Given the description of an element on the screen output the (x, y) to click on. 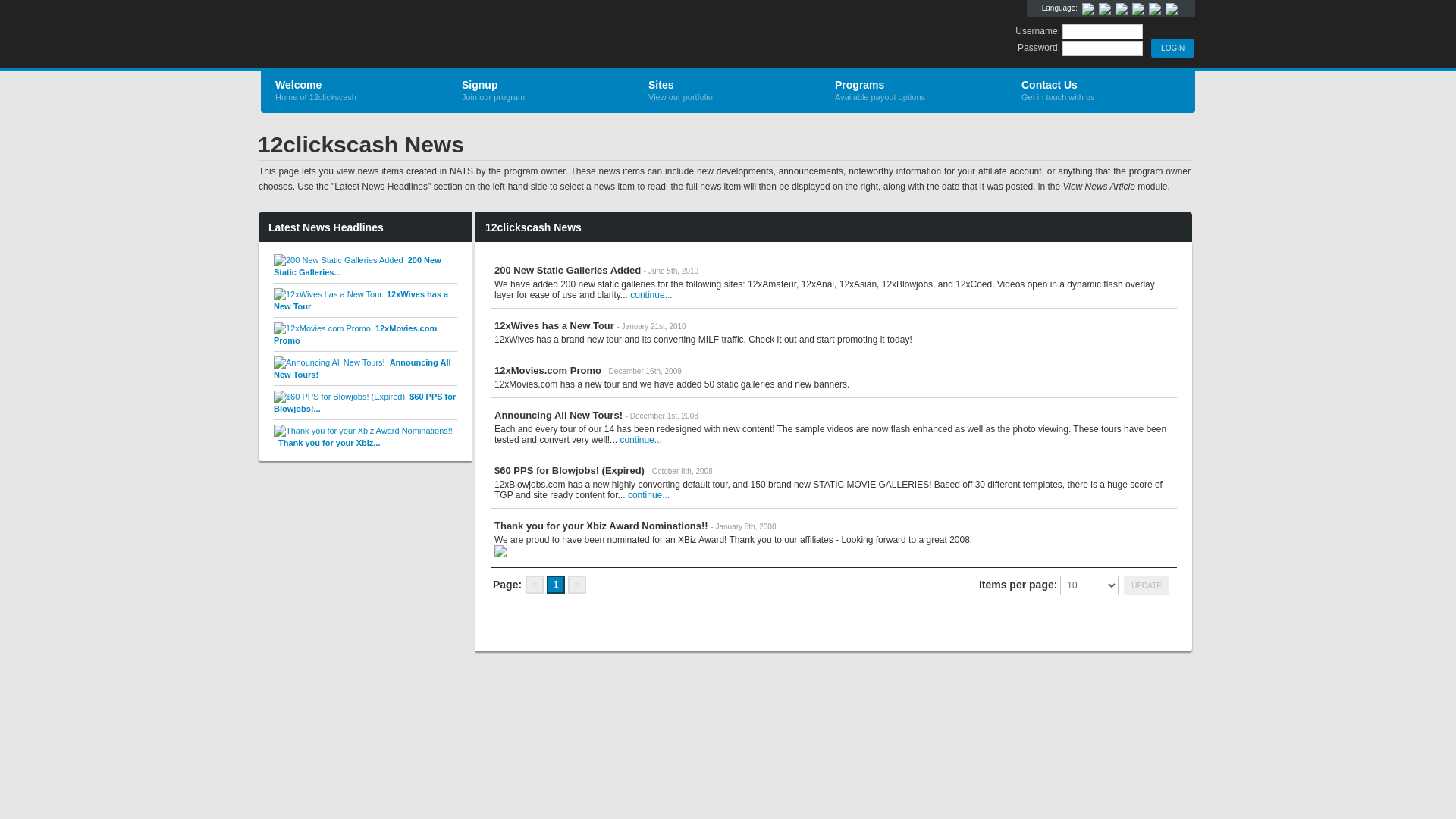
continue... Element type: text (640, 439)
12xMovies.com Promo Element type: text (354, 334)
continue... Element type: text (650, 294)
12xWives has a New Tour Element type: text (360, 299)
Deutsch Element type: hover (1104, 8)
UPDATE Element type: text (1146, 585)
Sites
View our portfolio Element type: text (727, 90)
 LOGIN  Element type: text (1172, 47)
200 New Static Galleries... Element type: text (357, 265)
Programs
Available payout options Element type: text (914, 90)
Signup
Join our program Element type: text (541, 90)
Welcome
Home of 12clickscash Element type: text (354, 90)
12clickscash Element type: text (441, 34)
continue... Element type: text (648, 494)
Thank you for your Xbiz... Element type: text (362, 436)
Announcing All New Tours! Element type: text (362, 368)
English Element type: hover (1087, 8)
$60 PPS for Blowjobs!... Element type: text (364, 402)
Contact Us
Get in touch with us Element type: text (1100, 90)
